Given the description of an element on the screen output the (x, y) to click on. 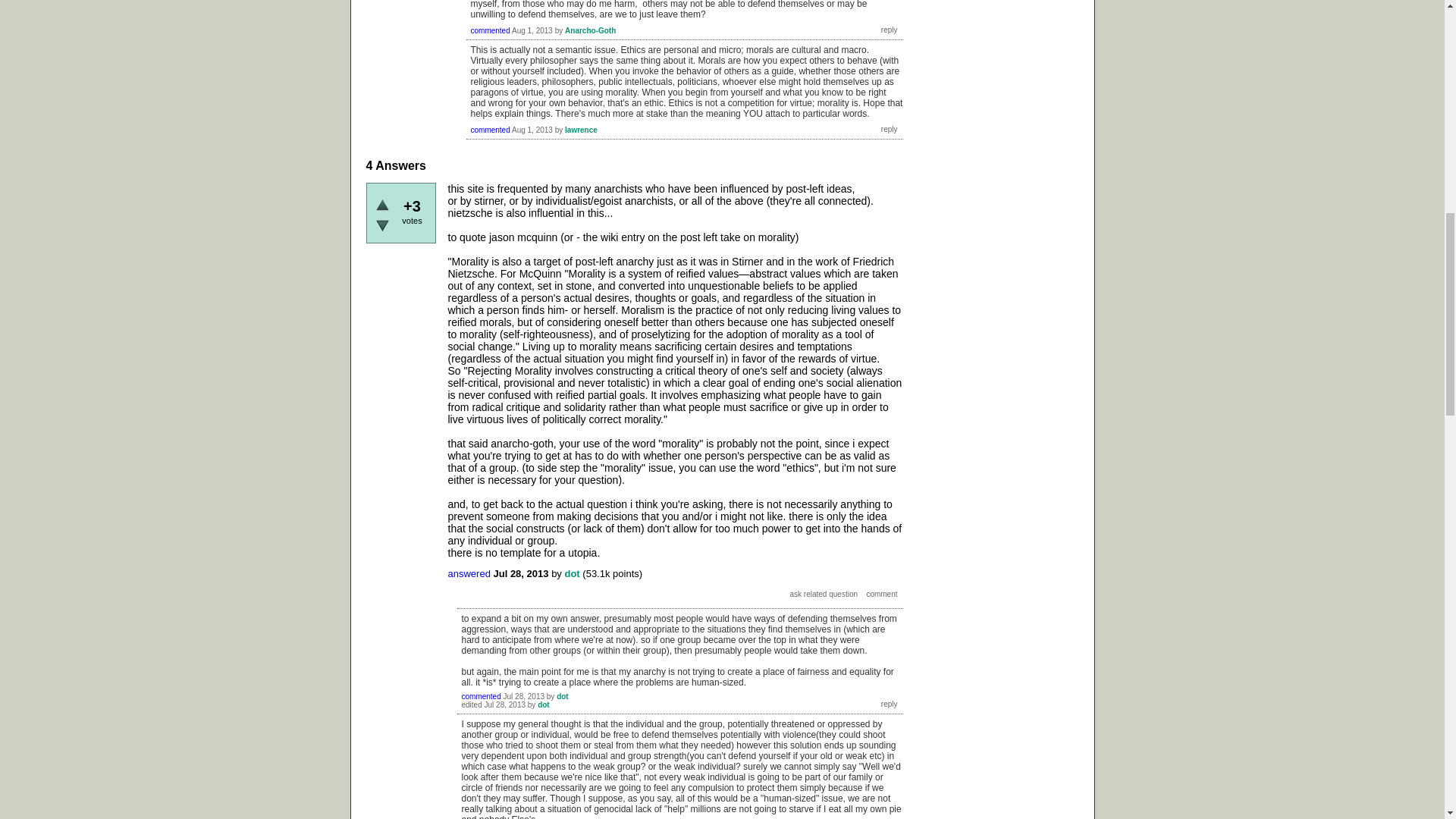
reply (889, 30)
comment (881, 593)
reply (889, 129)
ask related question (824, 593)
reply (889, 704)
